Given the description of an element on the screen output the (x, y) to click on. 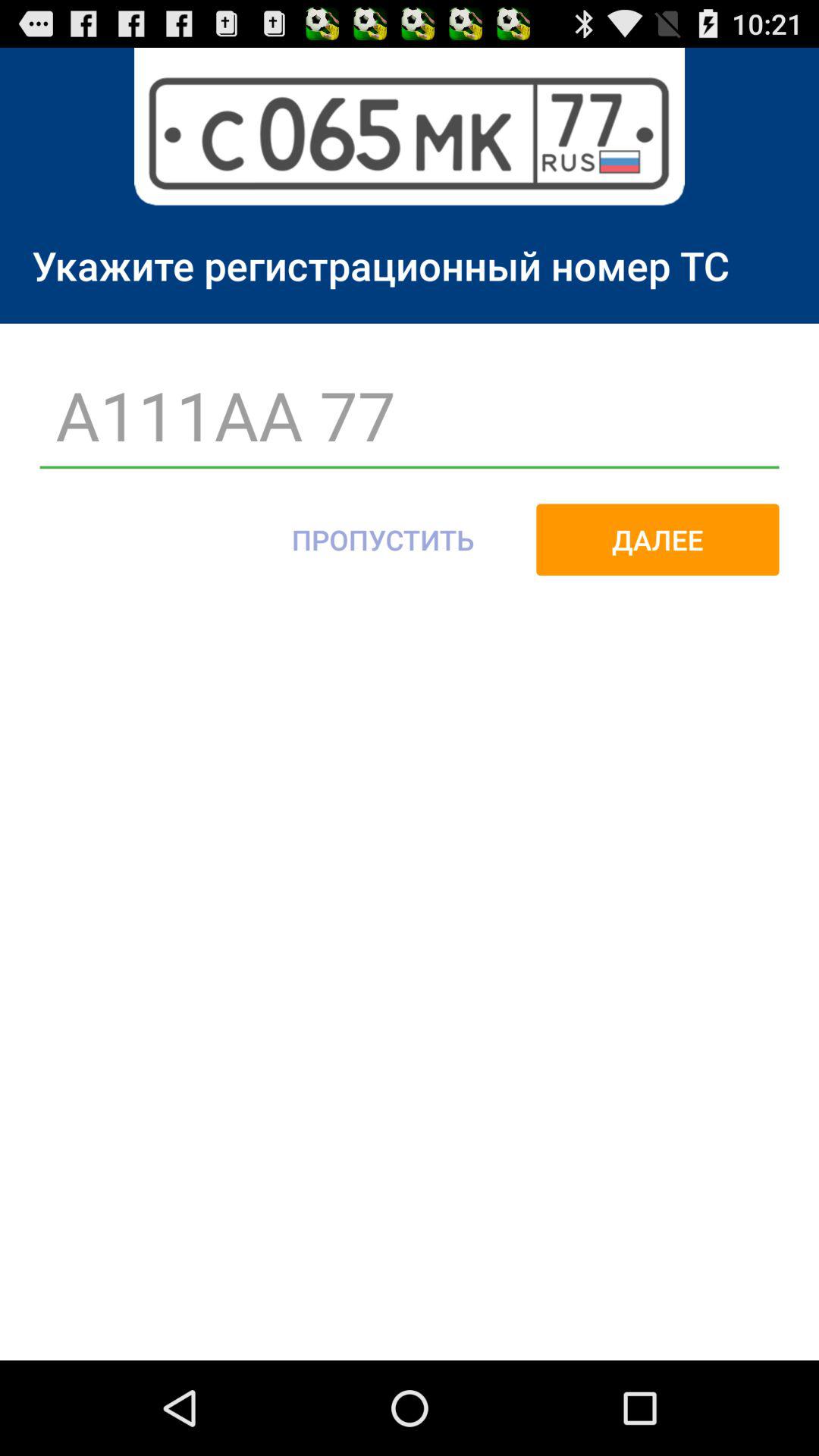
turn on item on the right (657, 539)
